Given the description of an element on the screen output the (x, y) to click on. 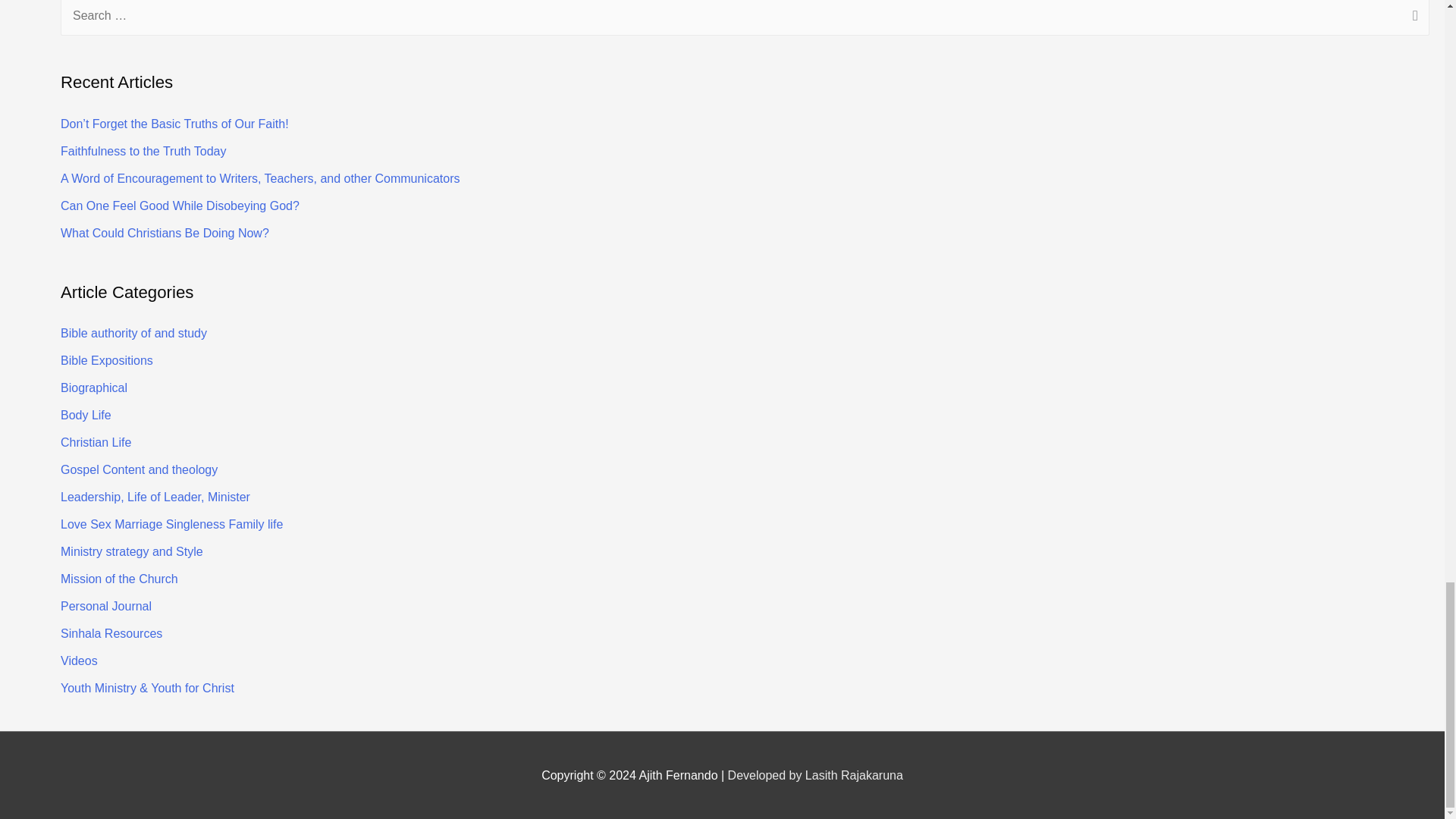
Mission of the Church (119, 578)
Faithfulness to the Truth Today (144, 151)
Can One Feel Good While Disobeying God? (180, 205)
Love Sex Marriage Singleness Family life (171, 523)
Bible Expositions (106, 359)
What Could Christians Be Doing Now? (165, 232)
Gospel Content and theology (138, 469)
Bible authority of and study (133, 332)
Developed by Lasith Rajakaruna (815, 775)
Christian Life (96, 441)
Ministry strategy and Style (132, 551)
Biographical (94, 387)
Videos (79, 660)
Body Life (86, 414)
